Given the description of an element on the screen output the (x, y) to click on. 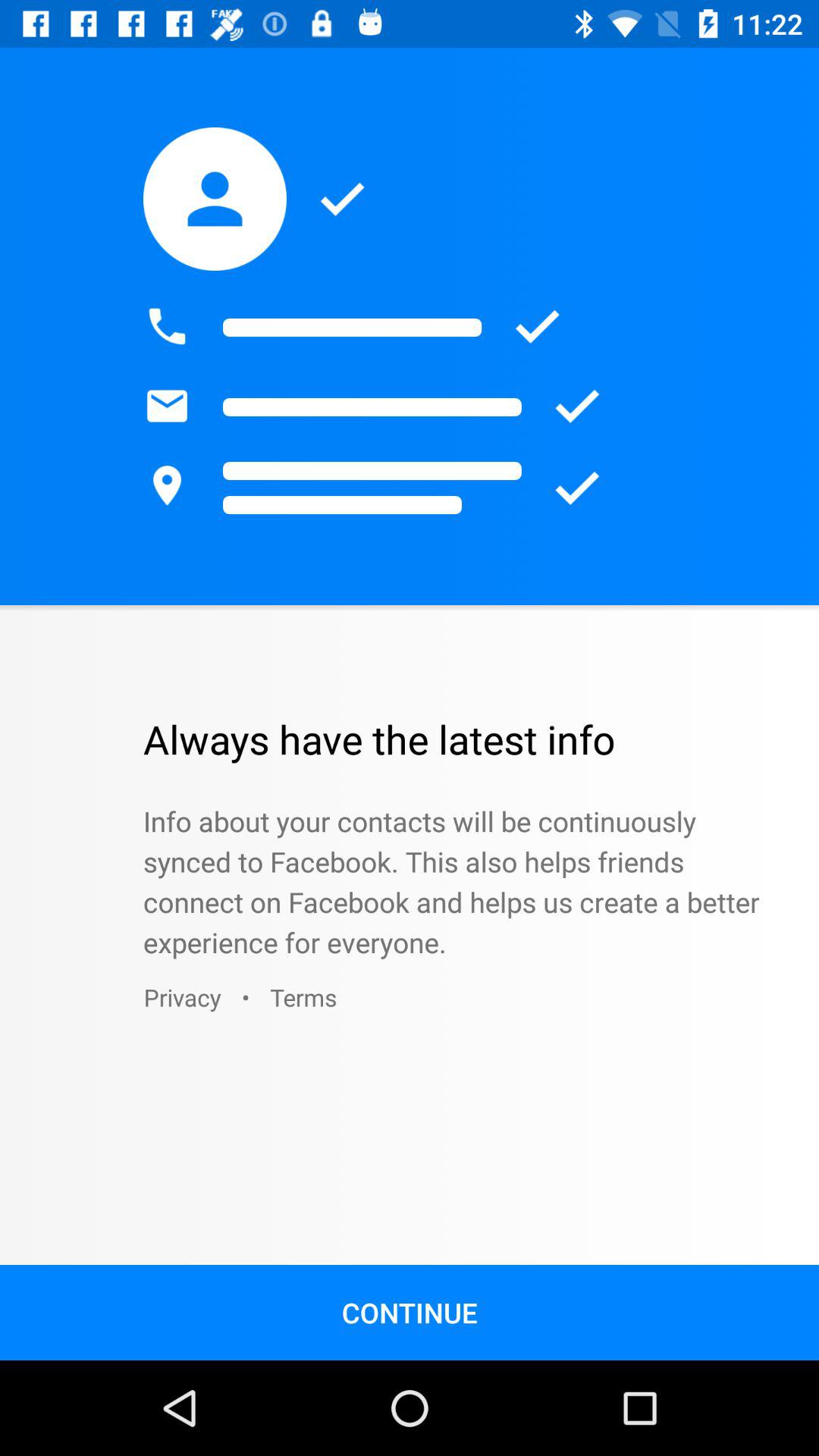
open icon below the info about your (303, 997)
